Given the description of an element on the screen output the (x, y) to click on. 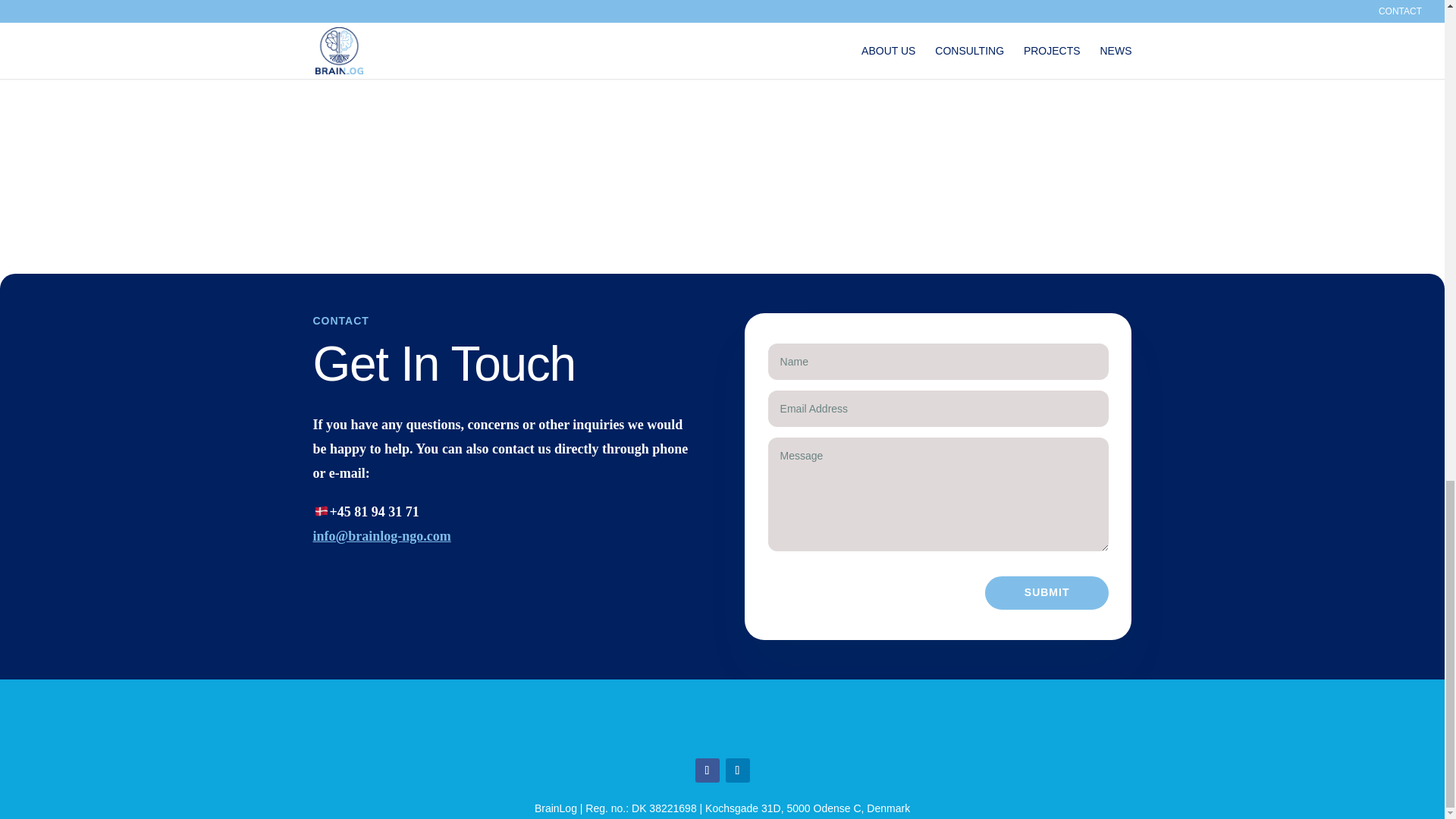
Follow on Facebook (706, 770)
SUBMIT (1047, 592)
Follow on LinkedIn (737, 770)
